Given the description of an element on the screen output the (x, y) to click on. 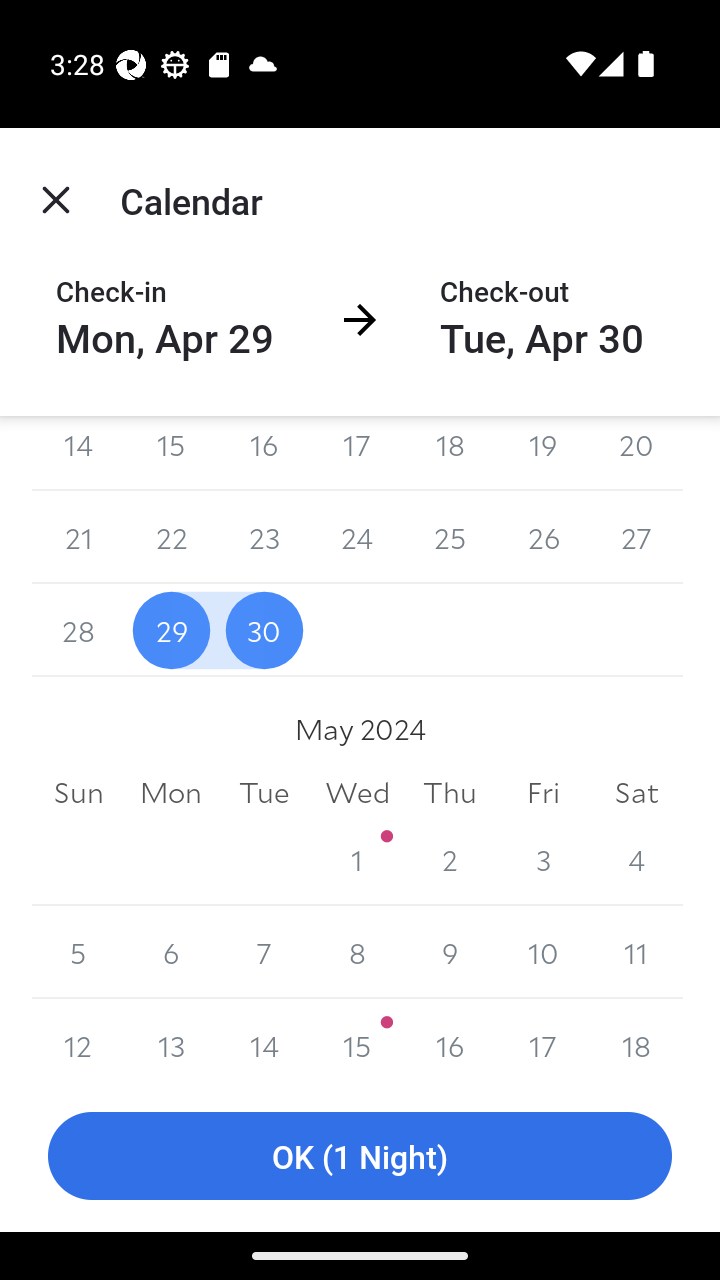
14 14 April 2024 (78, 453)
15 15 April 2024 (171, 453)
16 16 April 2024 (264, 453)
17 17 April 2024 (357, 453)
18 18 April 2024 (449, 453)
19 19 April 2024 (542, 453)
20 20 April 2024 (636, 453)
21 21 April 2024 (78, 537)
22 22 April 2024 (171, 537)
23 23 April 2024 (264, 537)
24 24 April 2024 (357, 537)
25 25 April 2024 (449, 537)
26 26 April 2024 (542, 537)
27 27 April 2024 (636, 537)
28 28 April 2024 (78, 630)
29 29 April 2024 (171, 630)
30 30 April 2024 (264, 630)
Sun (78, 791)
Mon (171, 791)
Tue (264, 791)
Wed (357, 791)
Thu (449, 791)
Fri (542, 791)
Sat (636, 791)
1 1 May 2024 (357, 859)
2 2 May 2024 (449, 859)
3 3 May 2024 (542, 859)
4 4 May 2024 (636, 859)
5 5 May 2024 (78, 952)
6 6 May 2024 (171, 952)
7 7 May 2024 (264, 952)
8 8 May 2024 (357, 952)
9 9 May 2024 (449, 952)
10 10 May 2024 (542, 952)
11 11 May 2024 (636, 952)
12 12 May 2024 (78, 1039)
13 13 May 2024 (171, 1039)
14 14 May 2024 (264, 1039)
15 15 May 2024 (357, 1039)
16 16 May 2024 (449, 1039)
17 17 May 2024 (542, 1039)
18 18 May 2024 (636, 1039)
OK (1 Night) (359, 1156)
